Given the description of an element on the screen output the (x, y) to click on. 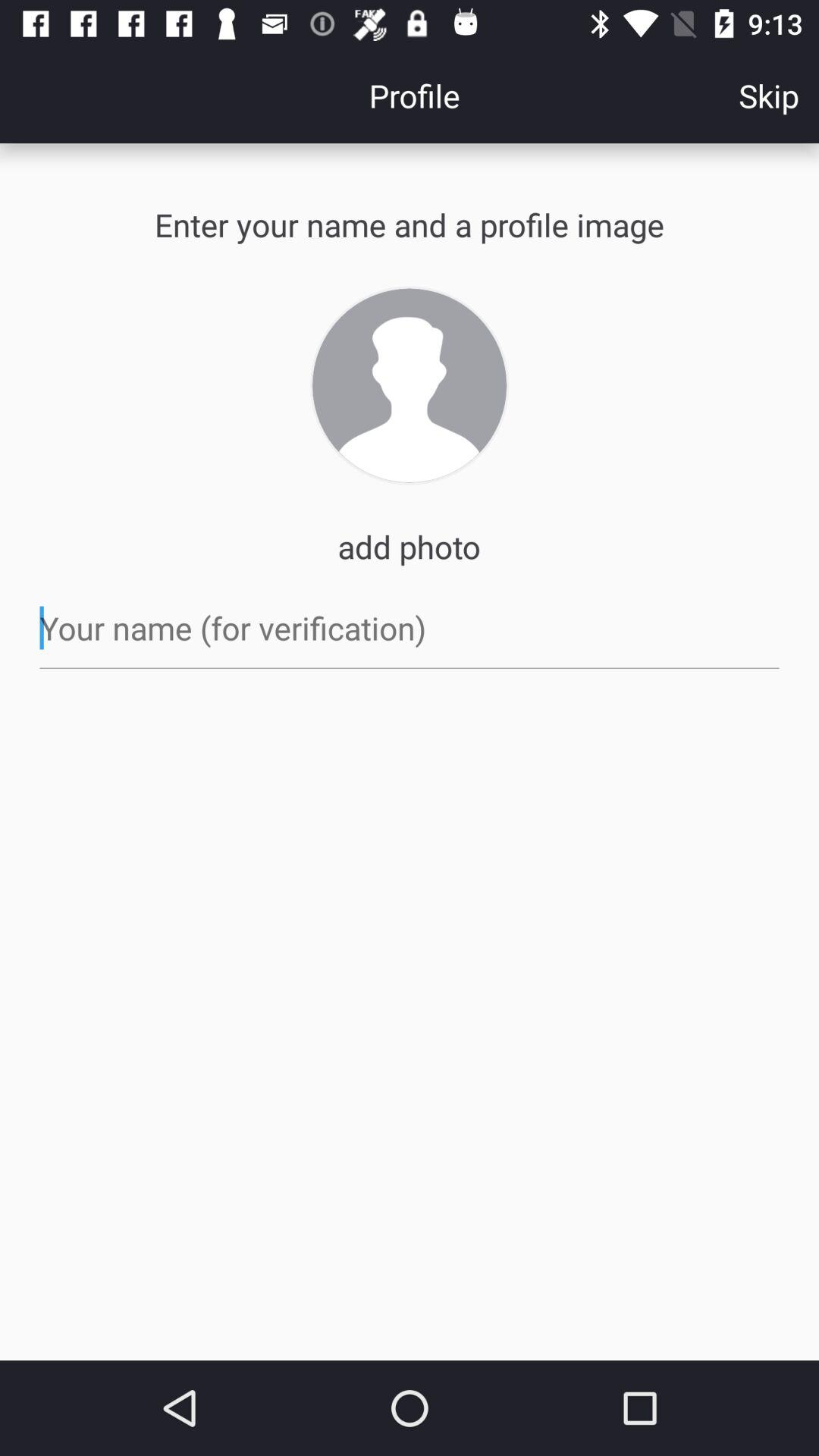
turn off icon to the right of the profile (768, 95)
